Given the description of an element on the screen output the (x, y) to click on. 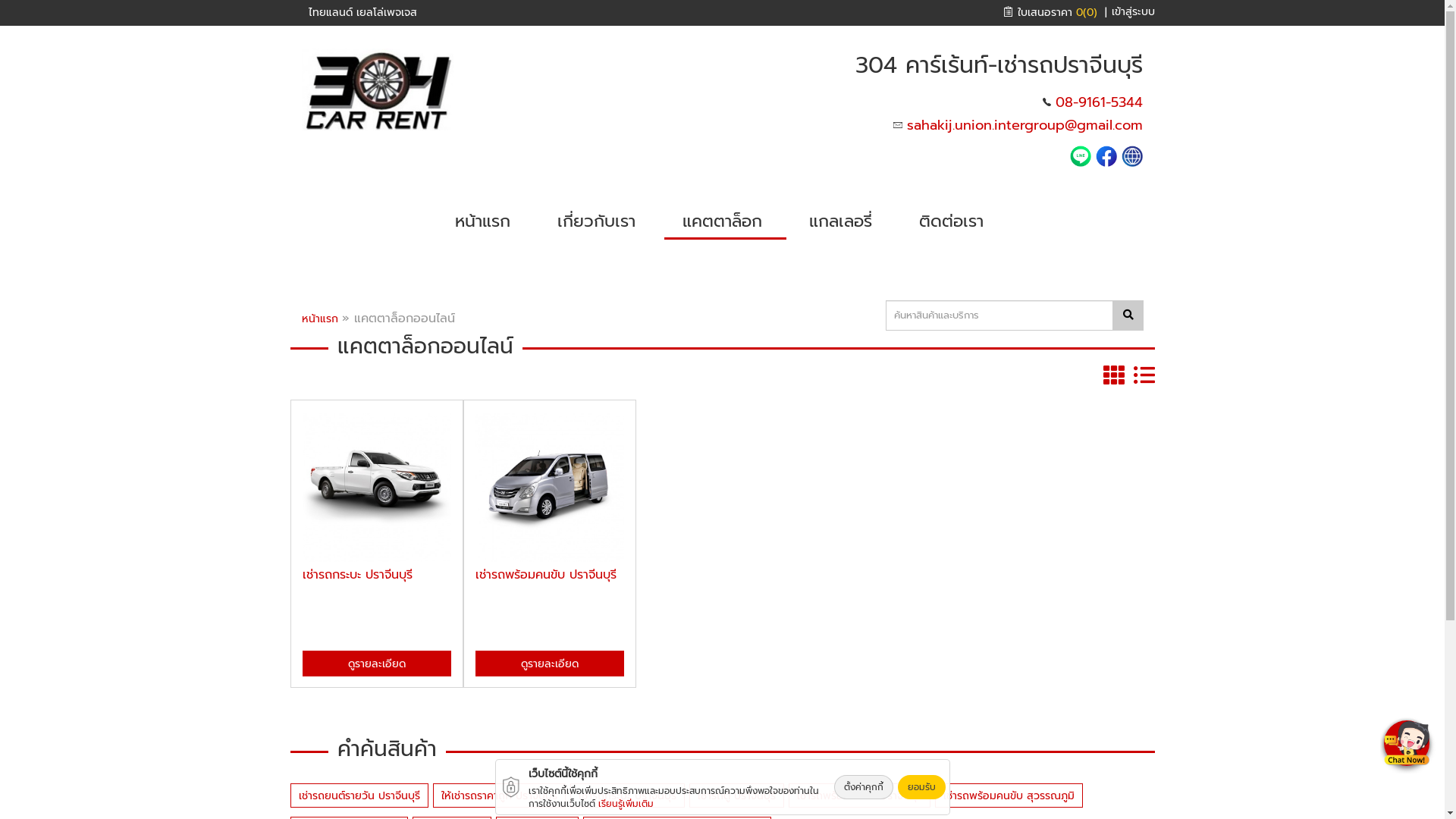
sahakij.union.intergroup@gmail.com Element type: text (1024, 124)
ID Line : @304carrent Element type: hover (1082, 155)
08-9161-5344 Element type: text (1098, 101)
Live chat Element type: hover (1408, 744)
facebook Element type: hover (1106, 155)
